Given the description of an element on the screen output the (x, y) to click on. 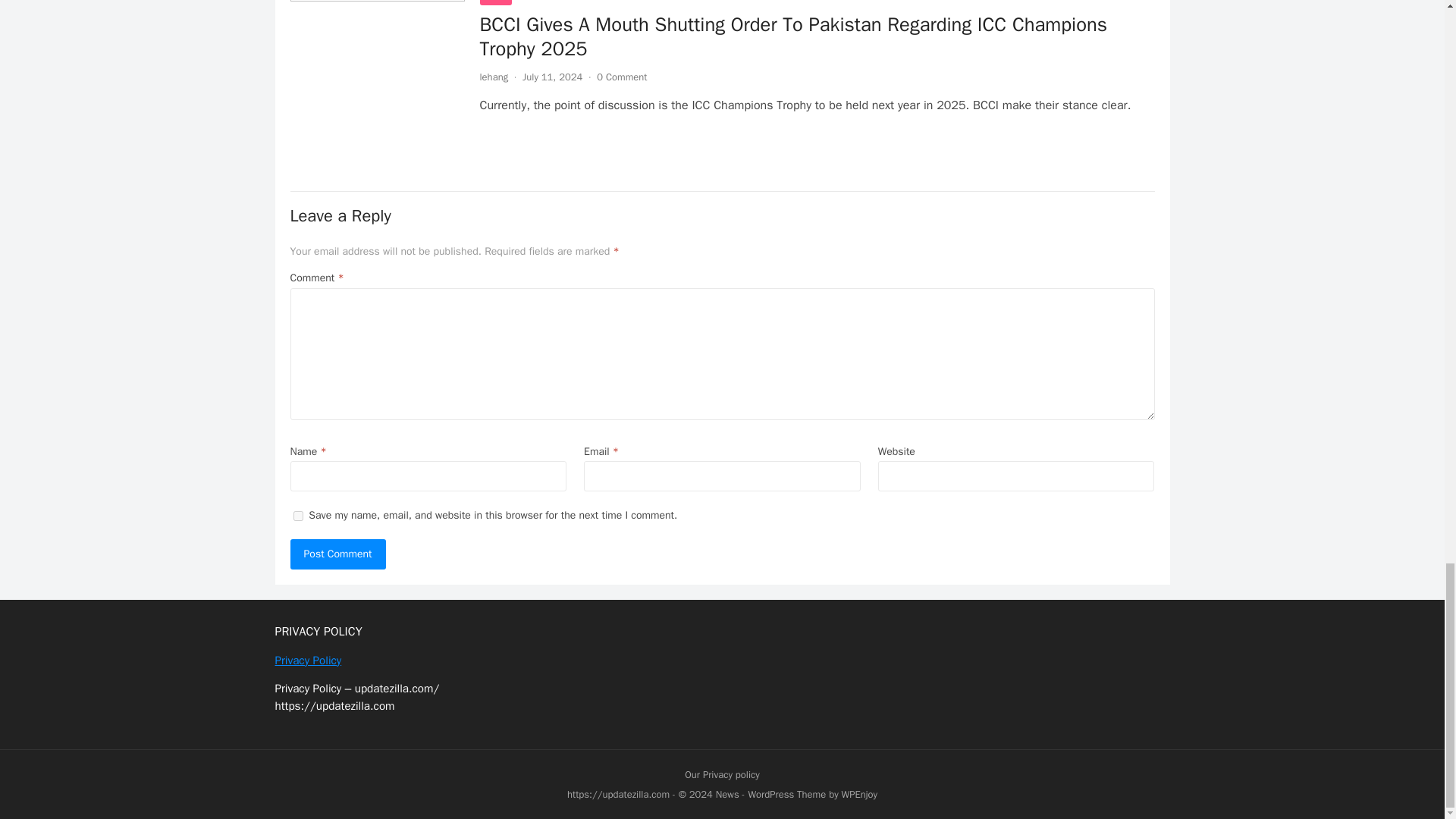
Post Comment (337, 553)
yes (297, 515)
Posts by lehang (493, 76)
Xinh (495, 2)
